Given the description of an element on the screen output the (x, y) to click on. 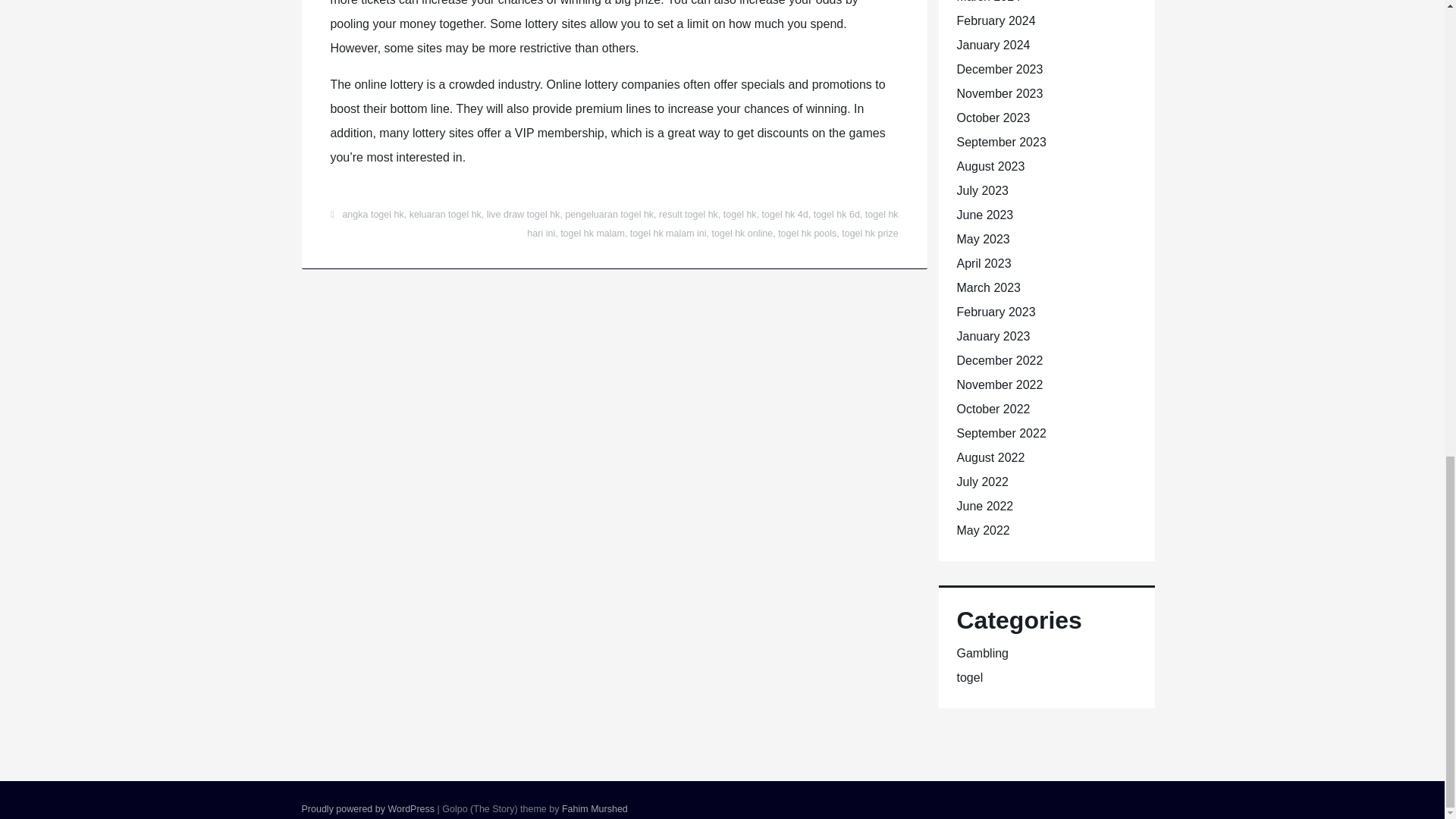
keluaran togel hk (445, 214)
togel hk hari ini (712, 224)
togel hk 6d (836, 214)
March 2024 (989, 1)
togel hk malam ini (668, 233)
November 2023 (999, 92)
togel hk pools (806, 233)
December 2023 (999, 69)
October 2023 (993, 117)
September 2023 (1001, 141)
togel hk malam (592, 233)
togel hk (740, 214)
angka togel hk (372, 214)
live draw togel hk (523, 214)
pengeluaran togel hk (608, 214)
